Given the description of an element on the screen output the (x, y) to click on. 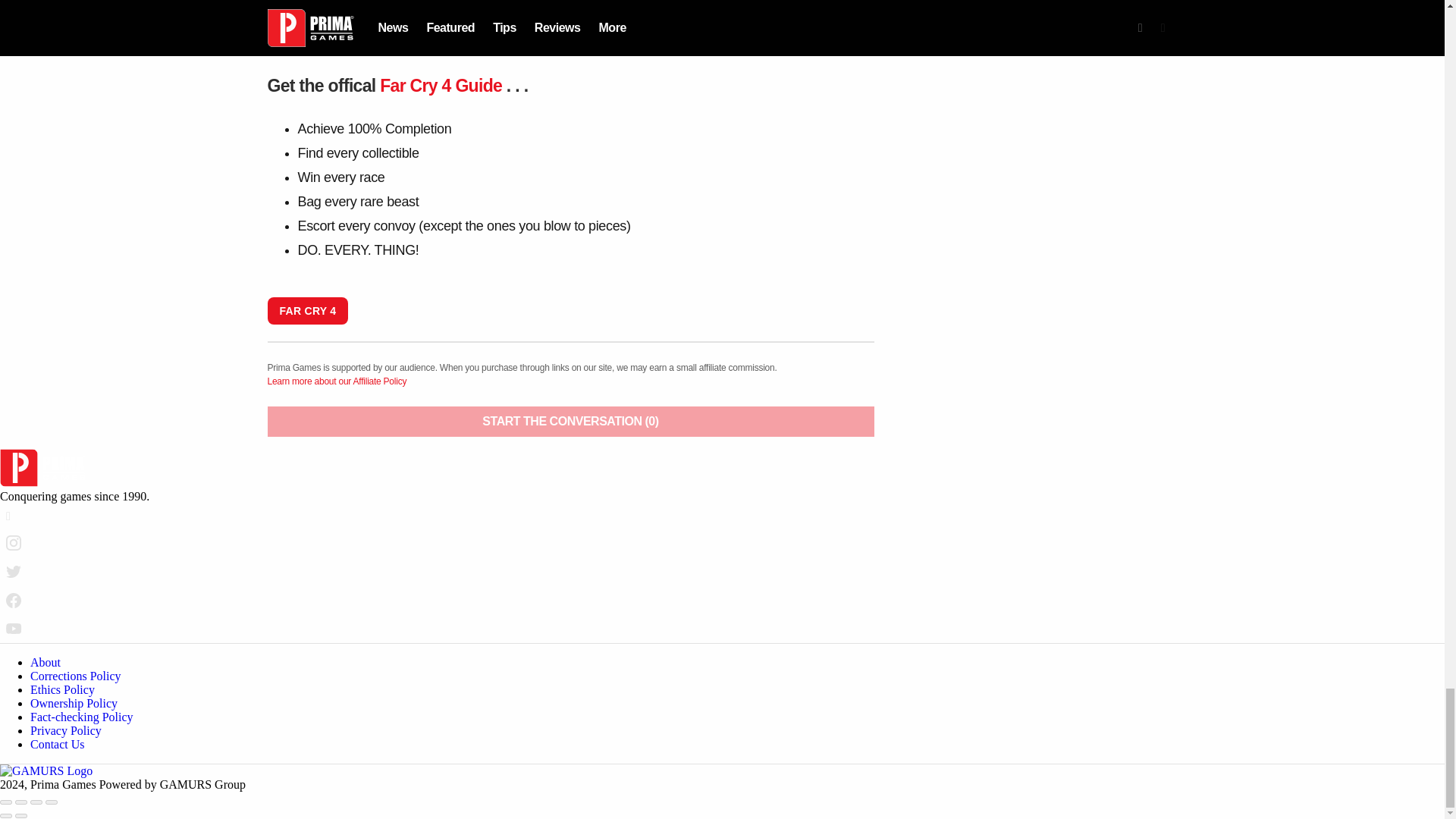
Share (20, 802)
Toggle fullscreen (36, 802)
Far Cry 4 Guide (441, 85)
